Given the description of an element on the screen output the (x, y) to click on. 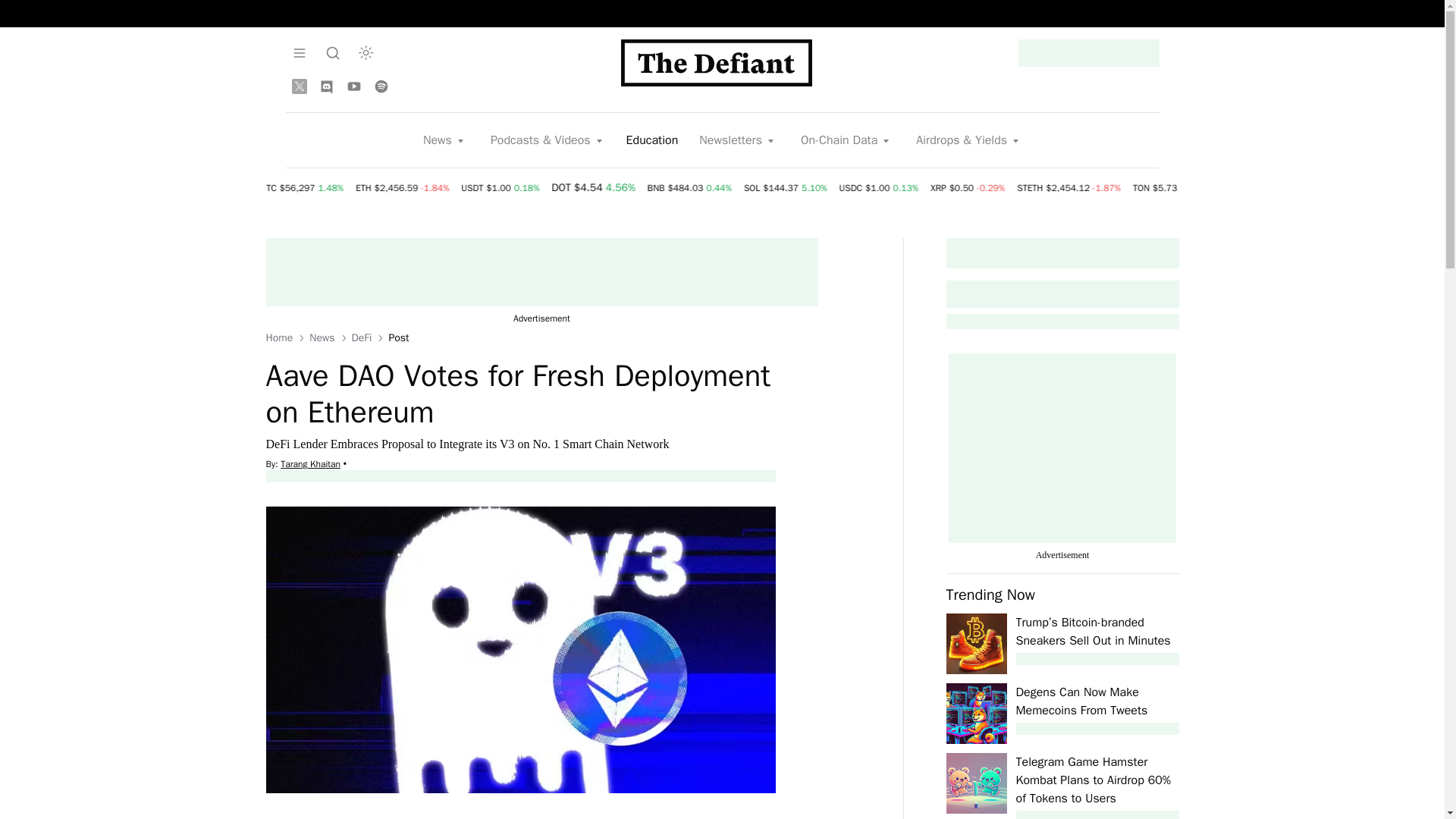
Newsletters (738, 139)
Toggle theme (365, 52)
Discord (325, 86)
Team Menu (299, 52)
Discord (326, 85)
Spotify (380, 86)
News (444, 139)
Toggle navigation menu (332, 52)
On-Chain Data (846, 139)
YouTube (353, 86)
YouTube (352, 85)
Twitter (299, 85)
Twitter (298, 86)
Education (652, 140)
Spotify (380, 85)
